Given the description of an element on the screen output the (x, y) to click on. 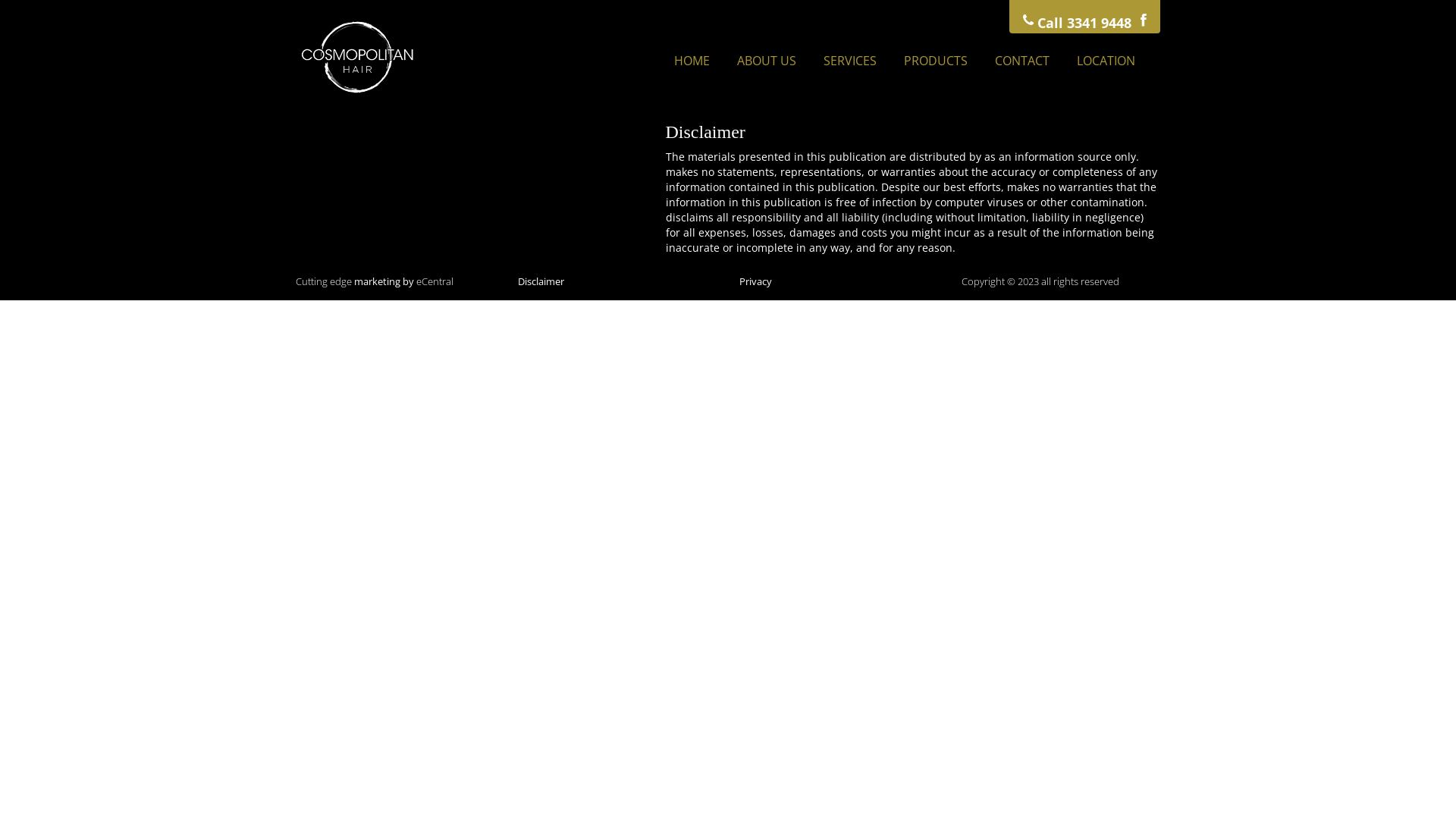
SERVICES Element type: text (850, 60)
marketing by Element type: text (384, 281)
PRODUCTS Element type: text (935, 60)
Disclaimer Element type: text (540, 281)
LOCATION Element type: text (1105, 60)
HOME Element type: text (691, 60)
Call 3341 9448 Element type: text (1076, 16)
ABOUT US Element type: text (766, 60)
CONTACT Element type: text (1021, 60)
Privacy Element type: text (755, 281)
